Given the description of an element on the screen output the (x, y) to click on. 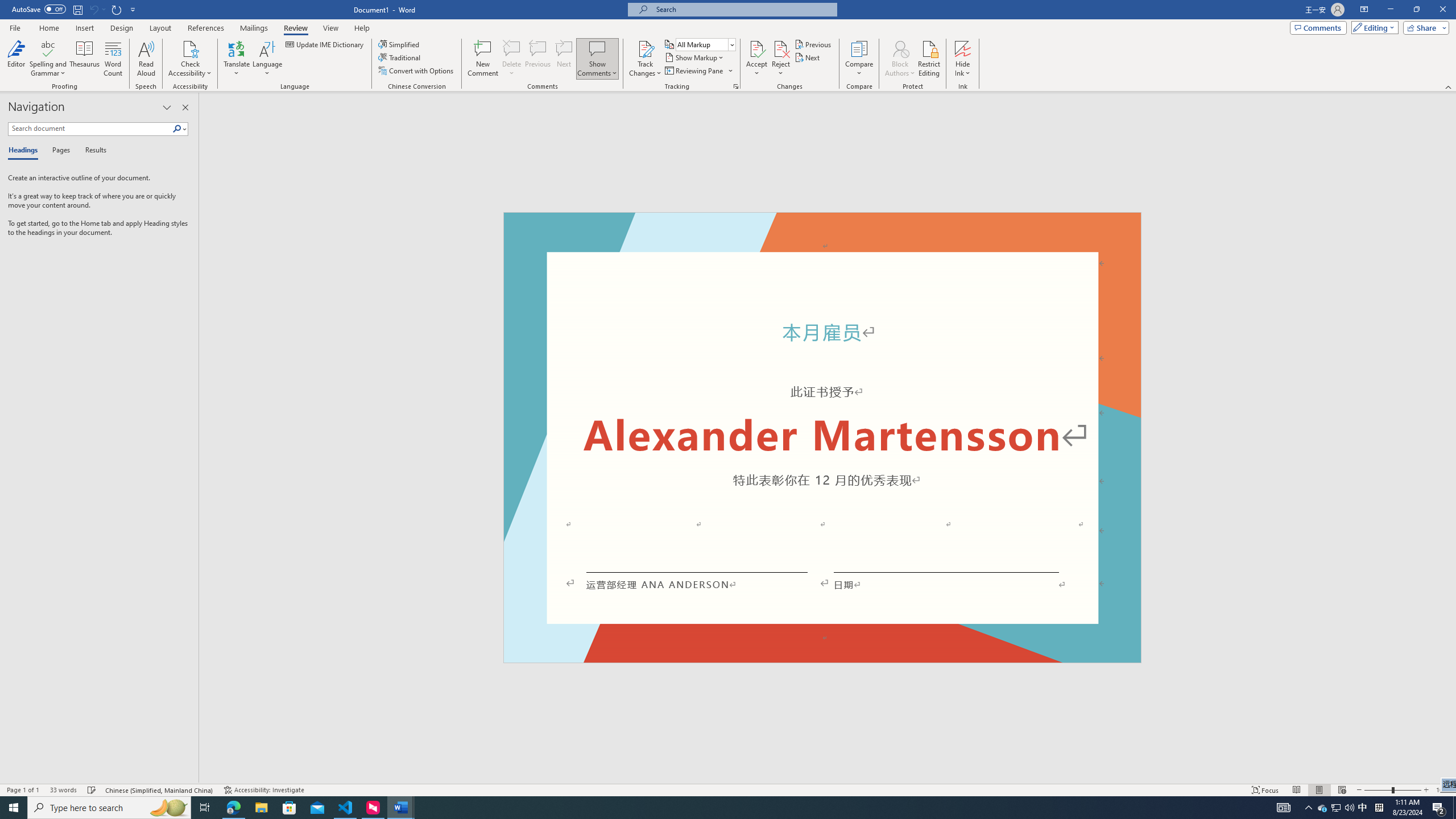
Class: NetUIScrollBar (1450, 437)
Show Markup (695, 56)
Footer -Section 1- (822, 657)
Convert with Options... (417, 69)
Results (91, 150)
Header -Section 1- (822, 225)
Display for Review (705, 44)
Search document (89, 128)
Reject (780, 58)
Spelling and Grammar (48, 48)
